Given the description of an element on the screen output the (x, y) to click on. 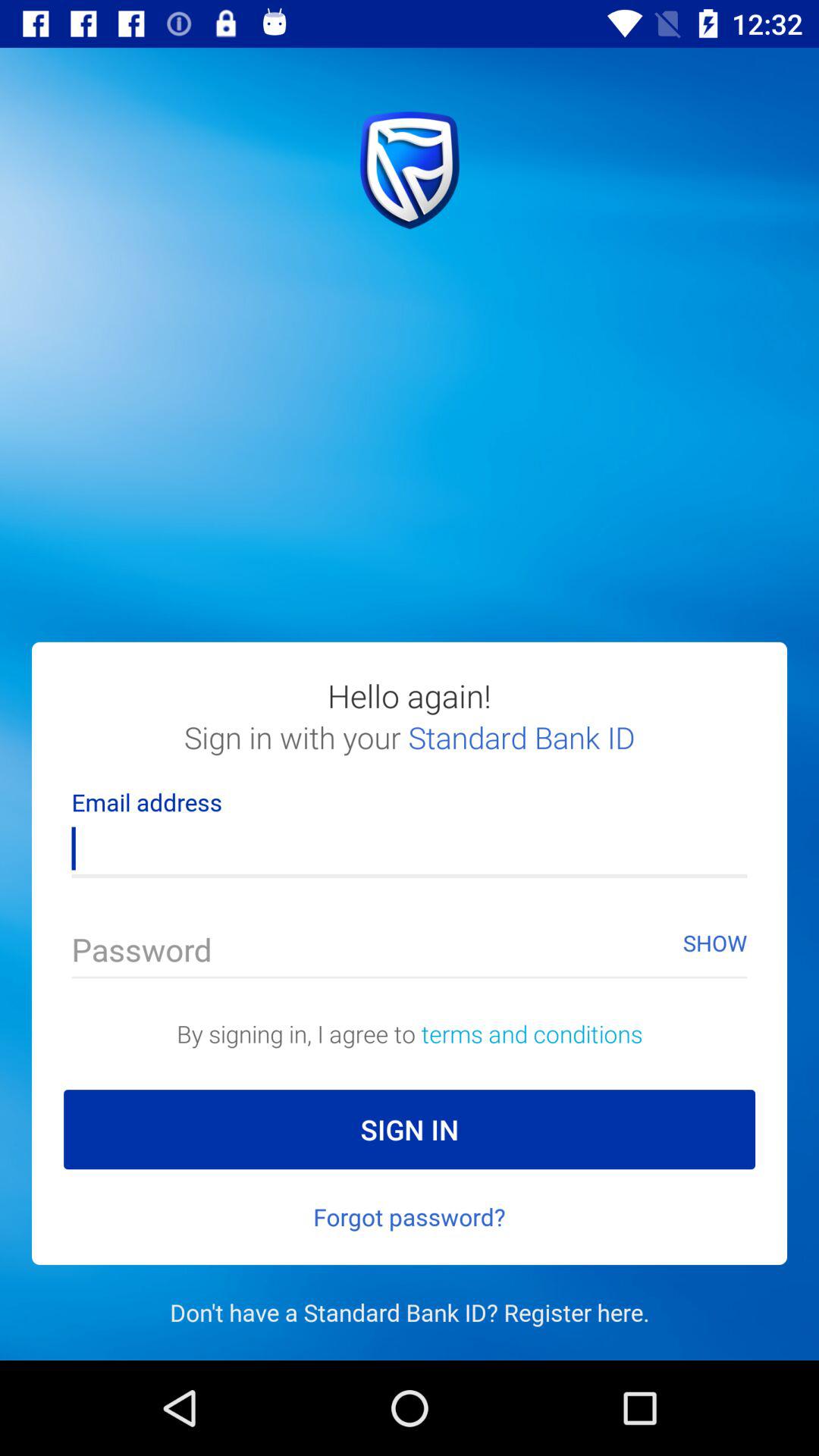
enter text (409, 953)
